Given the description of an element on the screen output the (x, y) to click on. 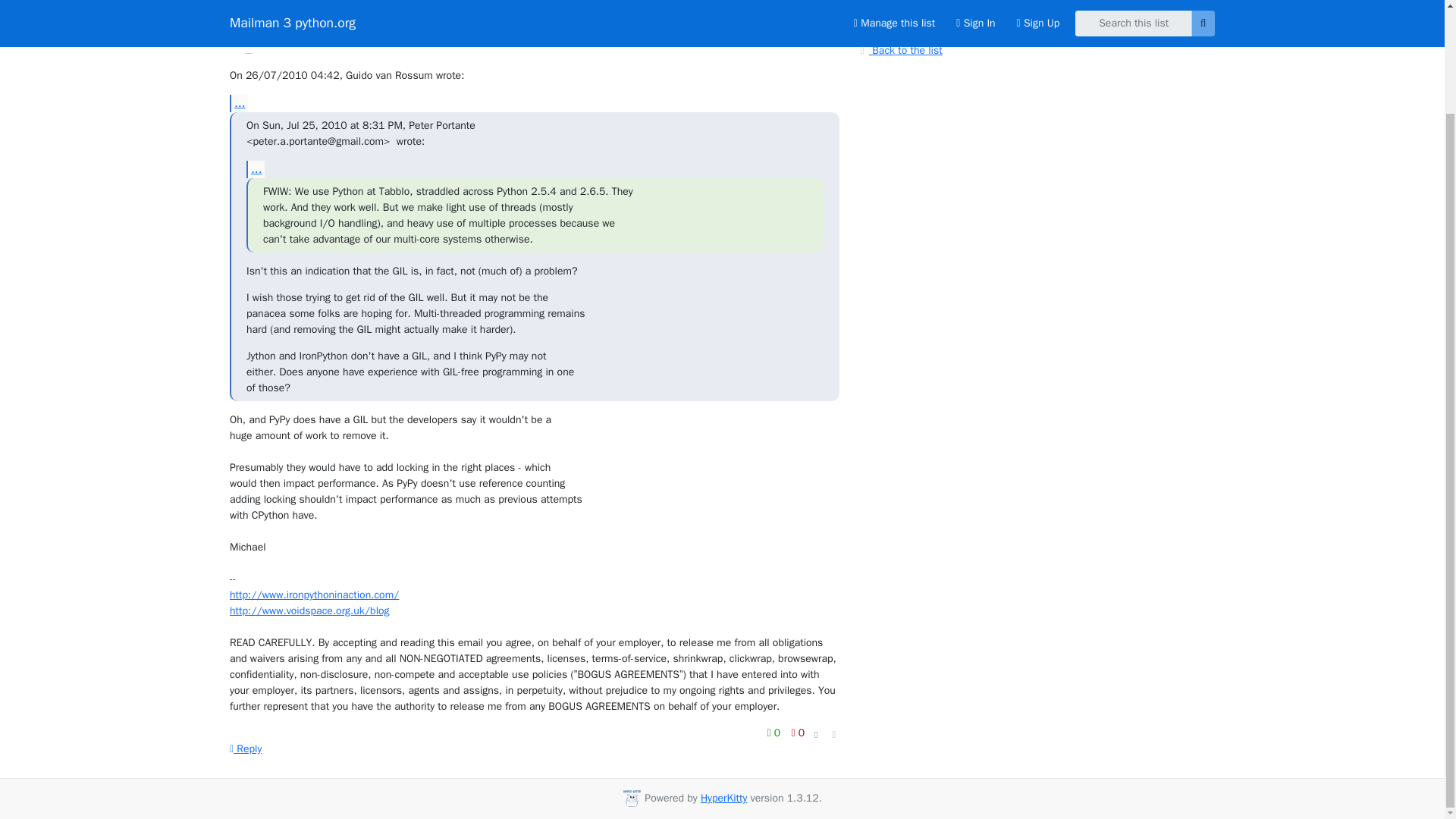
You must be logged-in to vote. (797, 732)
See the profile for Michael Foord (313, 33)
Back to the thread (907, 23)
Sender's time: July 26, 2010, 11:02 a.m. (816, 24)
HyperKitty (724, 797)
Michael Foord (313, 33)
0 (797, 732)
... (238, 103)
Reply (246, 748)
... (255, 169)
Reply (246, 748)
Back to the list (899, 49)
0 (774, 732)
You must be logged-in to vote. (774, 732)
